Given the description of an element on the screen output the (x, y) to click on. 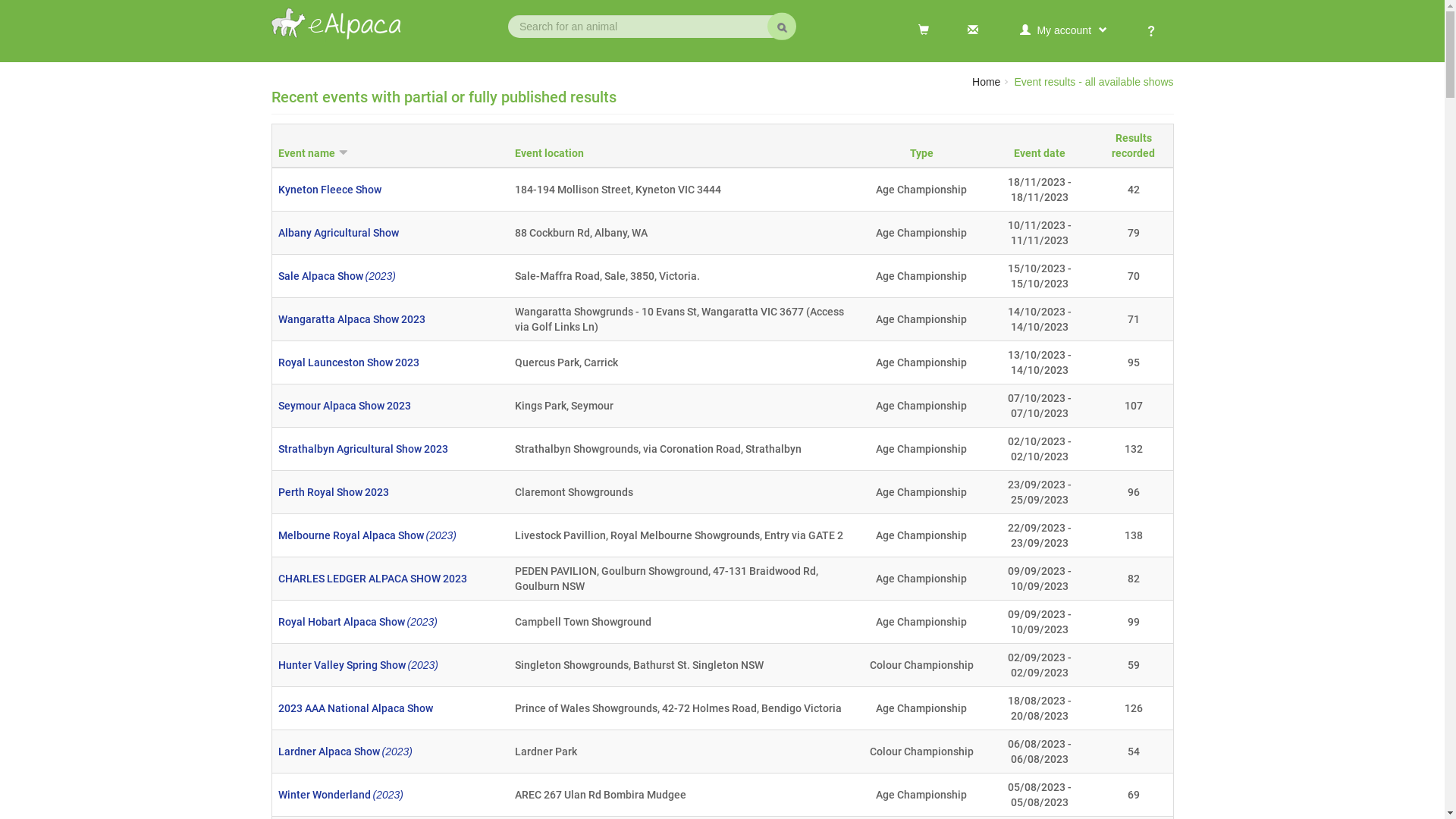
Kyneton Fleece Show Element type: text (328, 189)
CHARLES LEDGER ALPACA SHOW 2023 Element type: text (371, 578)
2023 AAA National Alpaca Show Element type: text (354, 708)
Lardner Alpaca Show (2023) Element type: text (344, 751)
Royal Launceston Show 2023 Element type: text (347, 362)
Sale Alpaca Show (2023) Element type: text (336, 275)
Wangaratta Alpaca Show 2023 Element type: text (350, 319)
Albany Agricultural Show Element type: text (337, 232)
Home Element type: text (986, 81)
Strathalbyn Agricultural Show 2023 Element type: text (362, 448)
Event results - all available shows Element type: text (1093, 81)
Royal Hobart Alpaca Show (2023) Element type: text (356, 621)
Perth Royal Show 2023 Element type: text (332, 492)
Winter Wonderland (2023) Element type: text (339, 794)
Melbourne Royal Alpaca Show (2023) Element type: text (366, 535)
Hunter Valley Spring Show (2023) Element type: text (357, 664)
Seymour Alpaca Show 2023 Element type: text (343, 405)
